Given the description of an element on the screen output the (x, y) to click on. 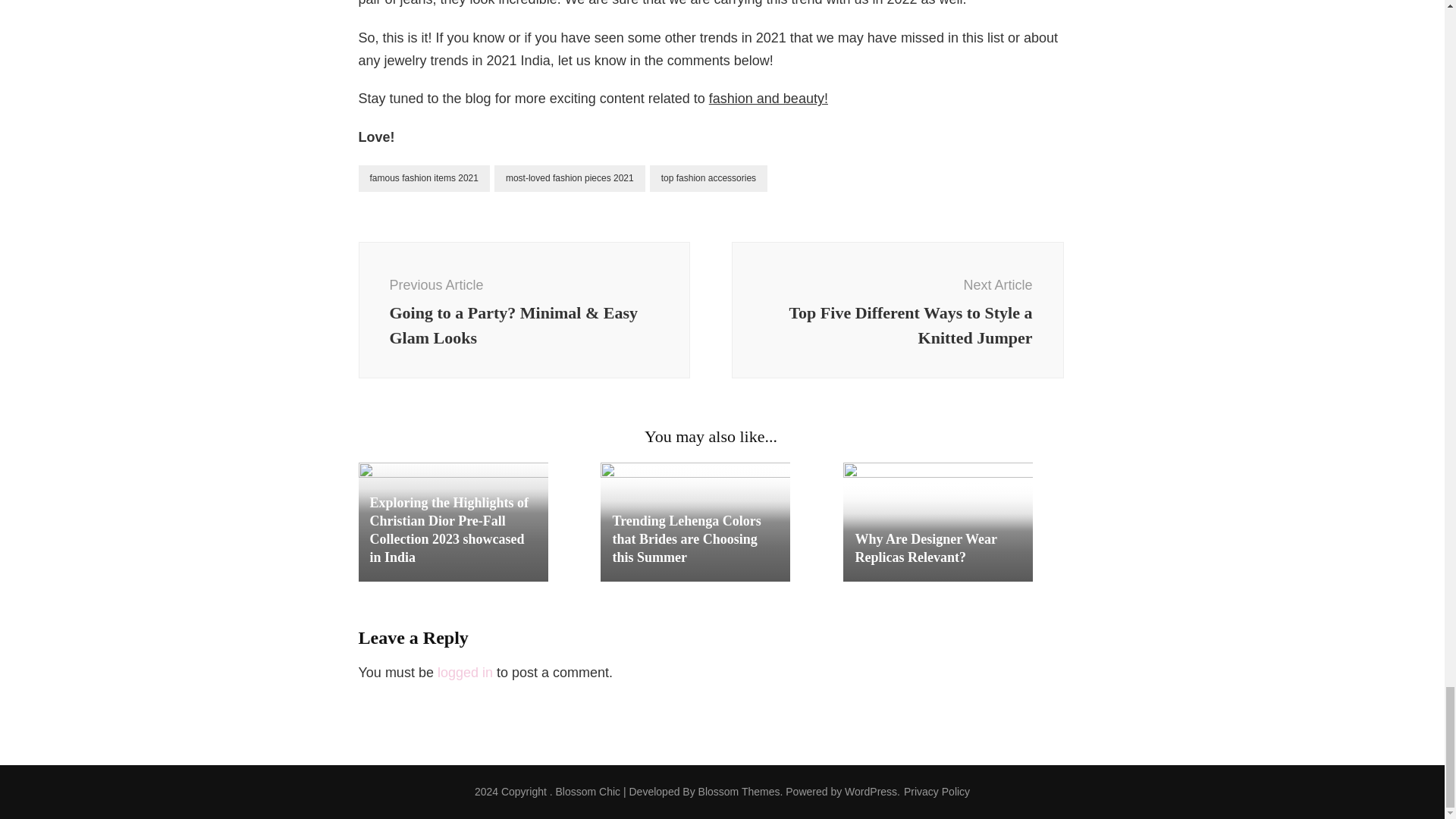
fashion and beauty! (768, 98)
famous fashion items 2021 (423, 178)
most-loved fashion pieces 2021 (570, 178)
top fashion accessories (708, 178)
